Given the description of an element on the screen output the (x, y) to click on. 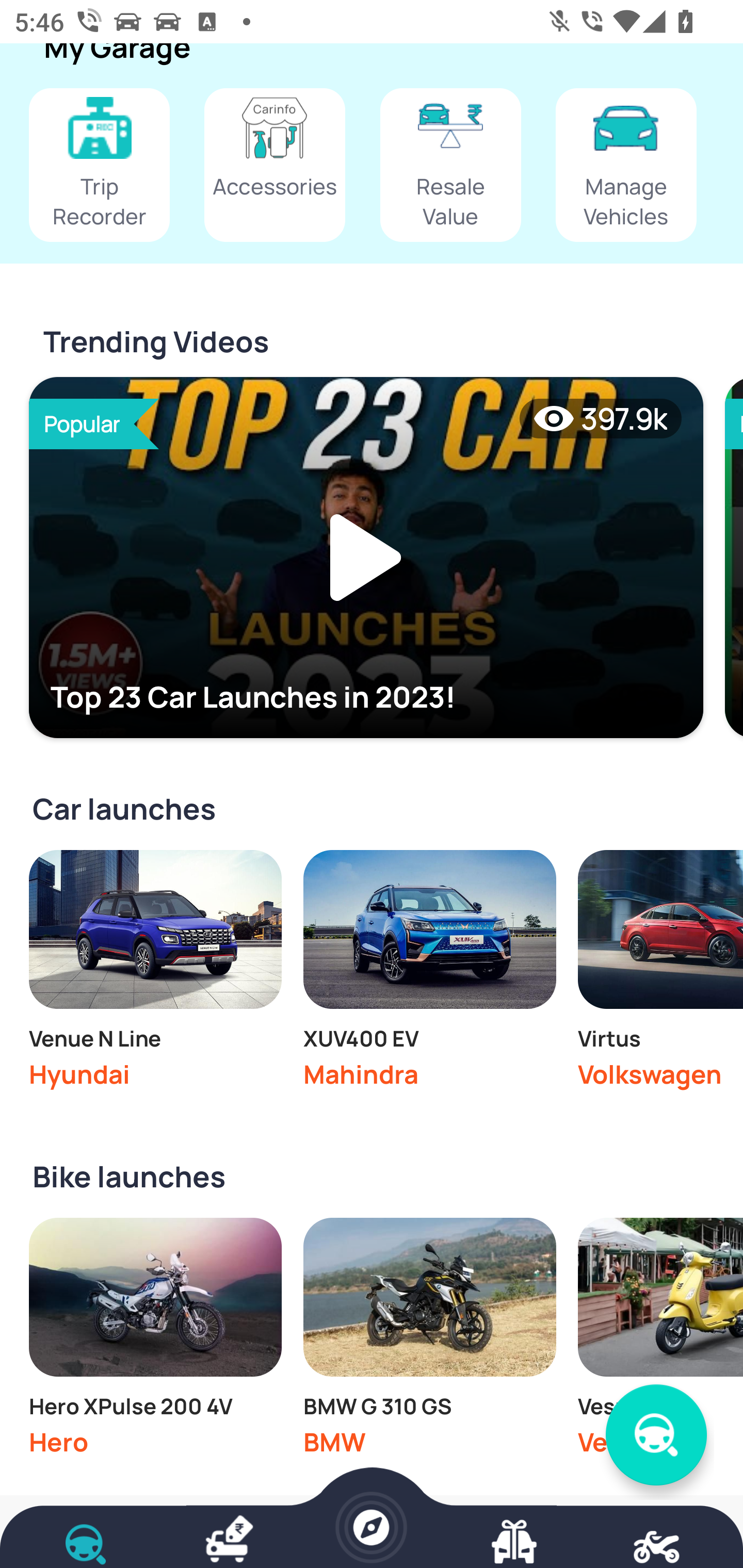
Trip Recorder (98, 164)
Accessories (274, 164)
Resale
Value (450, 164)
Manage
Vehicles (625, 164)
Venue N Line Hyundai (154, 974)
XUV400 EV Mahindra (429, 974)
Virtus Volkswagen (660, 974)
Hero XPulse 200 4V Hero (154, 1342)
BMW G 310 GS BMW (429, 1342)
Vespa ZX Vespa (660, 1342)
